Given the description of an element on the screen output the (x, y) to click on. 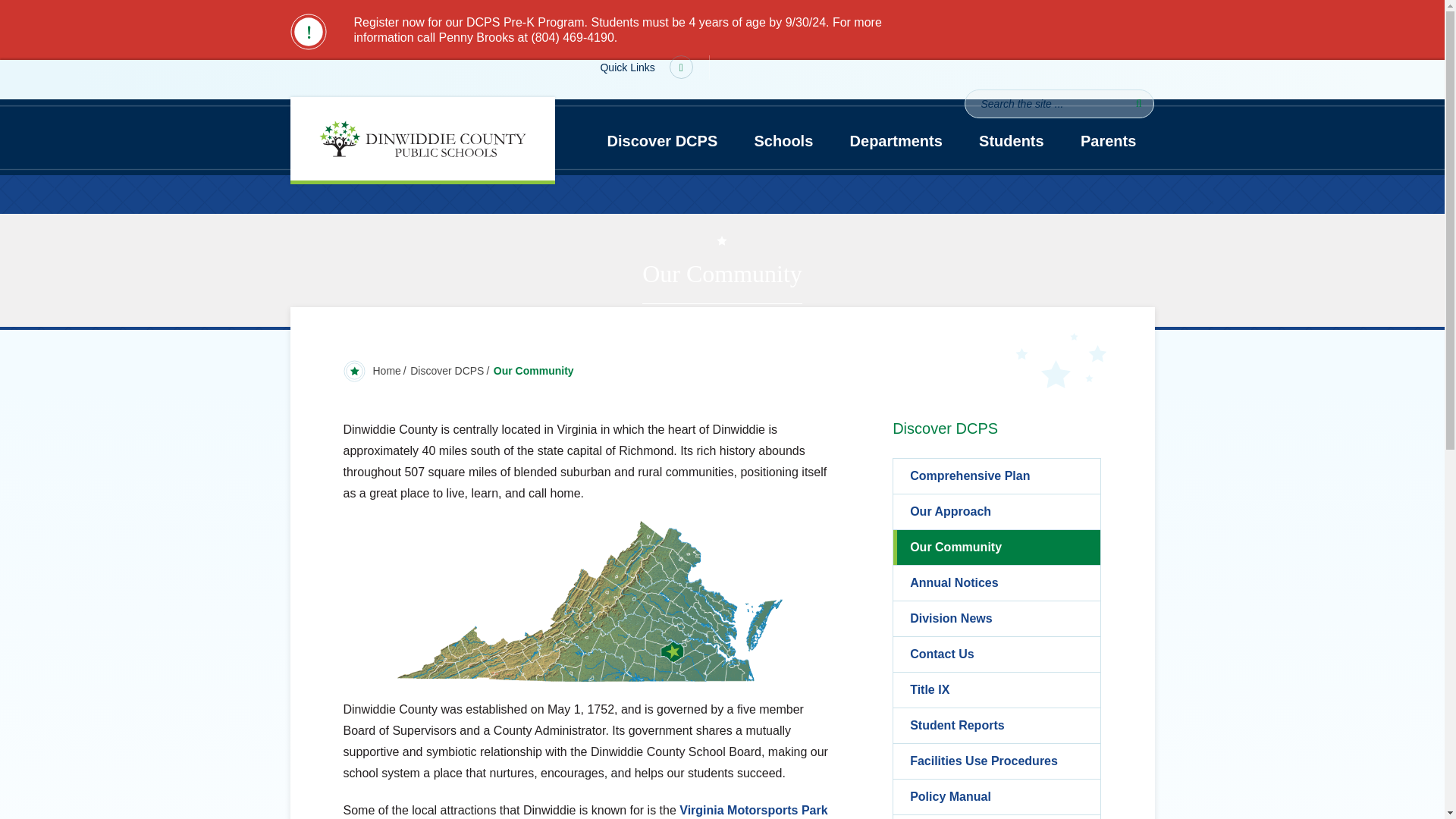
Discover DCPS (446, 370)
Discover DCPS (661, 141)
Dinwiddie County Schools (422, 137)
Return to homepage (386, 370)
Quick Links (649, 67)
